Given the description of an element on the screen output the (x, y) to click on. 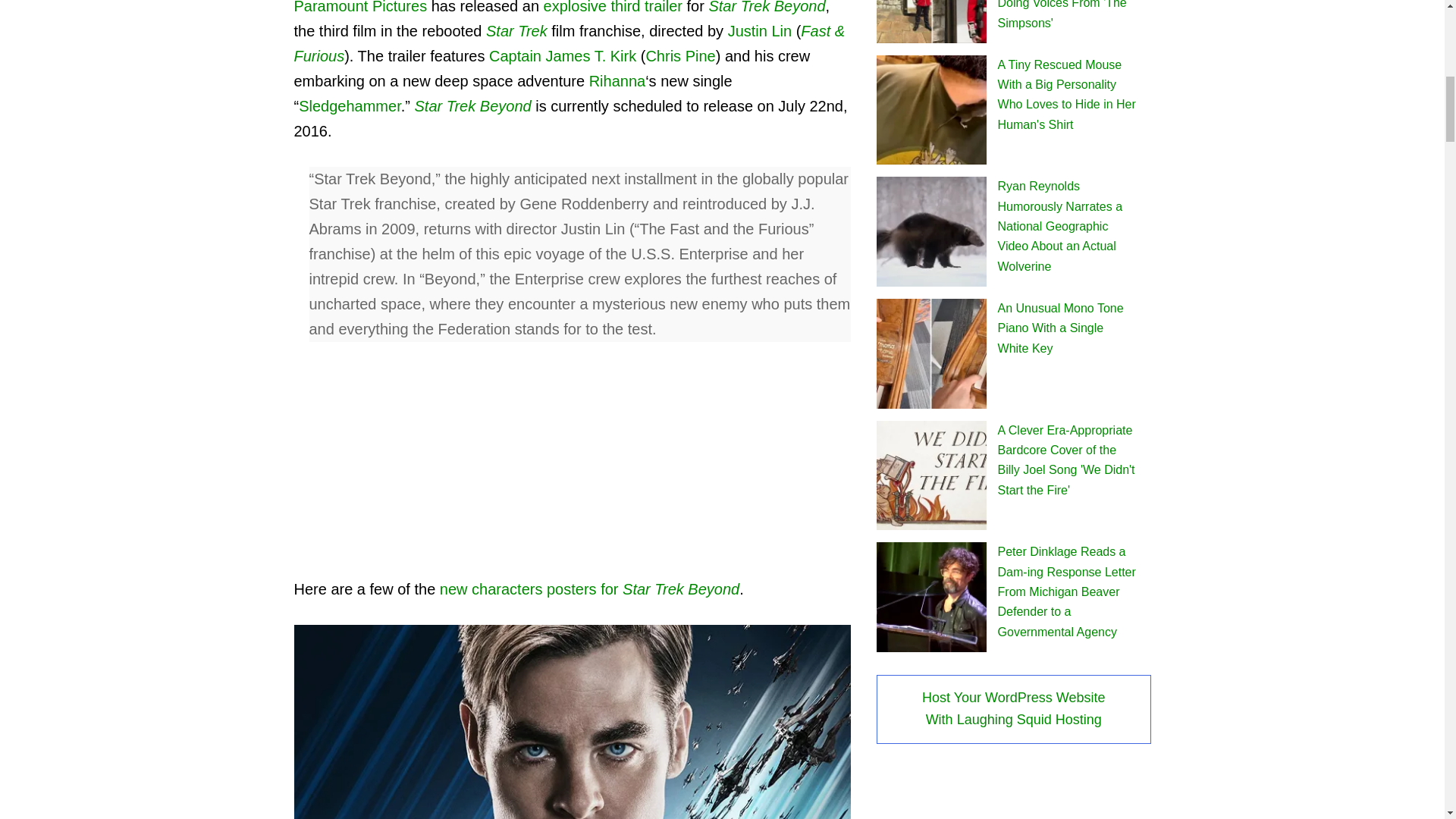
Star Trek (516, 30)
Justin Lin (760, 30)
Rihanna (617, 80)
Captain James T. Kirk (562, 55)
explosive third trailer (612, 7)
Star Trek Beyond (766, 7)
Paramount Pictures (361, 7)
Chris Pine (679, 55)
